Given the description of an element on the screen output the (x, y) to click on. 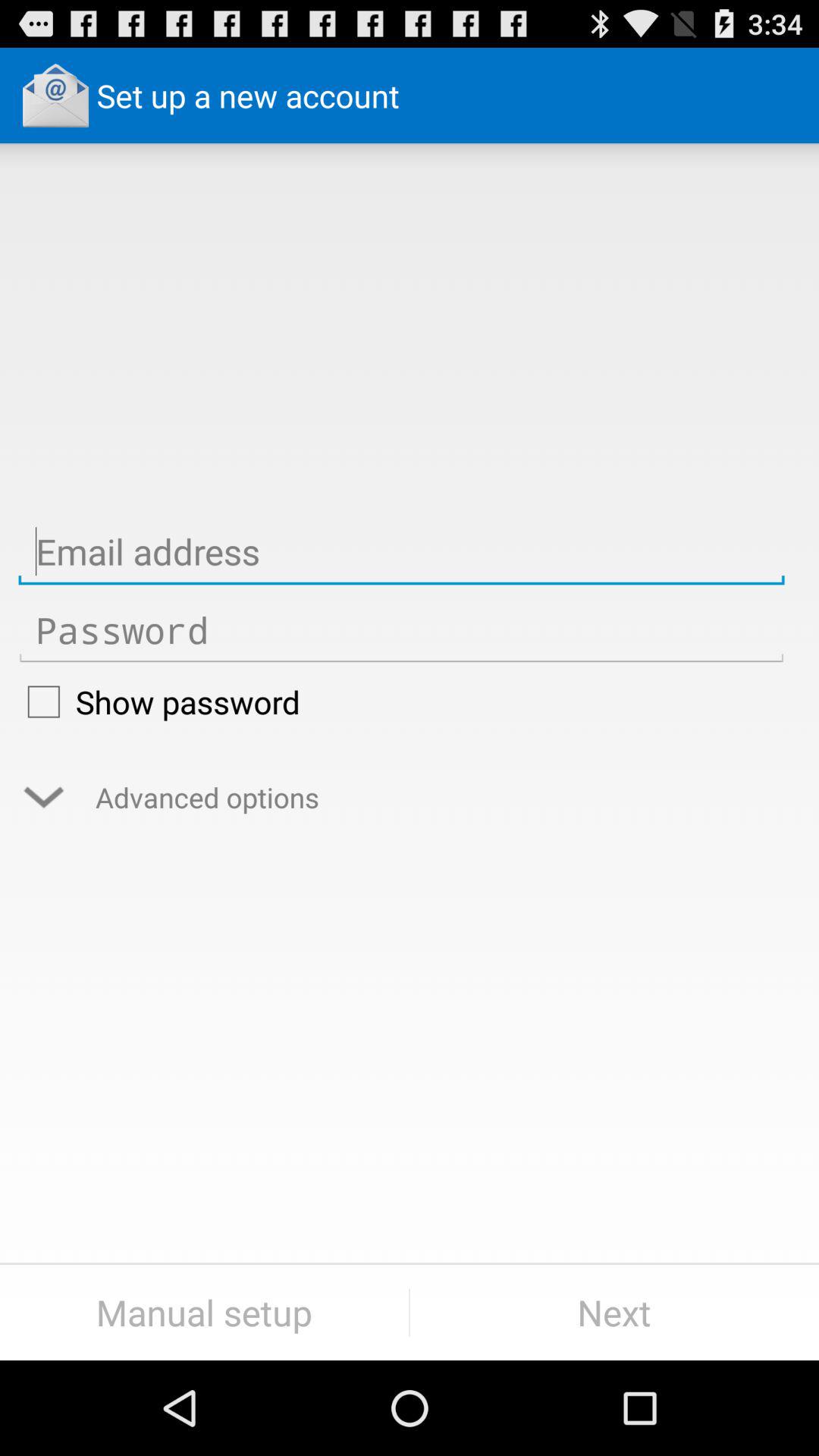
turn on item to the left of the next button (204, 1312)
